Given the description of an element on the screen output the (x, y) to click on. 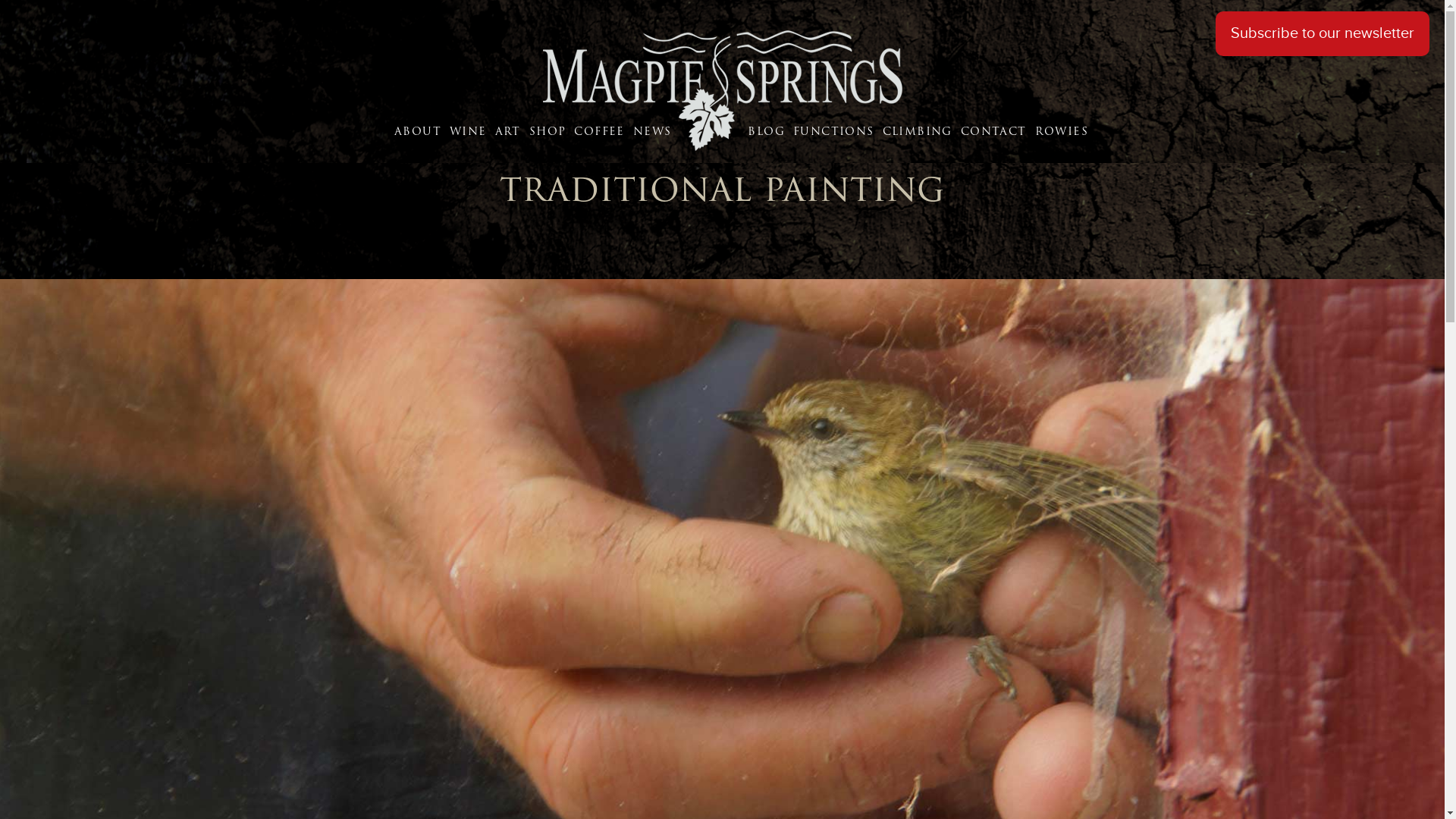
CLIMBING Element type: text (919, 131)
Subscribe to our newsletter Element type: text (1322, 33)
CONTACT Element type: text (995, 131)
SHOP Element type: text (550, 131)
BLOG Element type: text (734, 131)
WINE Element type: text (470, 131)
ABOUT Element type: text (419, 131)
COFFEE Element type: text (601, 131)
ART Element type: text (510, 131)
FUNCTIONS Element type: text (835, 131)
NEWS Element type: text (654, 131)
ROWIES Element type: text (1063, 131)
